Given the description of an element on the screen output the (x, y) to click on. 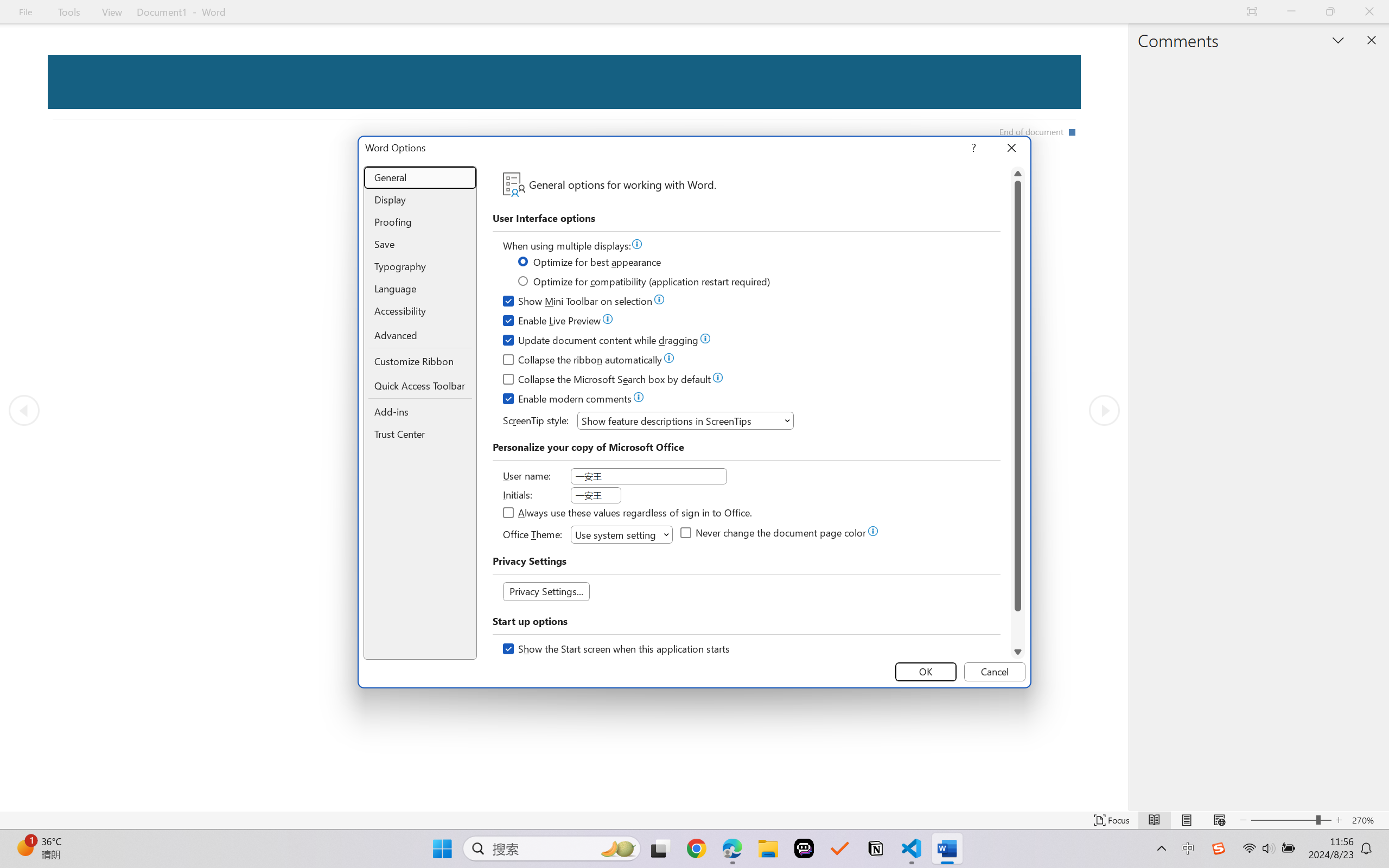
User name (648, 476)
Collapse the ribbon automatically (582, 361)
Tools (69, 11)
Proofing (419, 221)
